Given the description of an element on the screen output the (x, y) to click on. 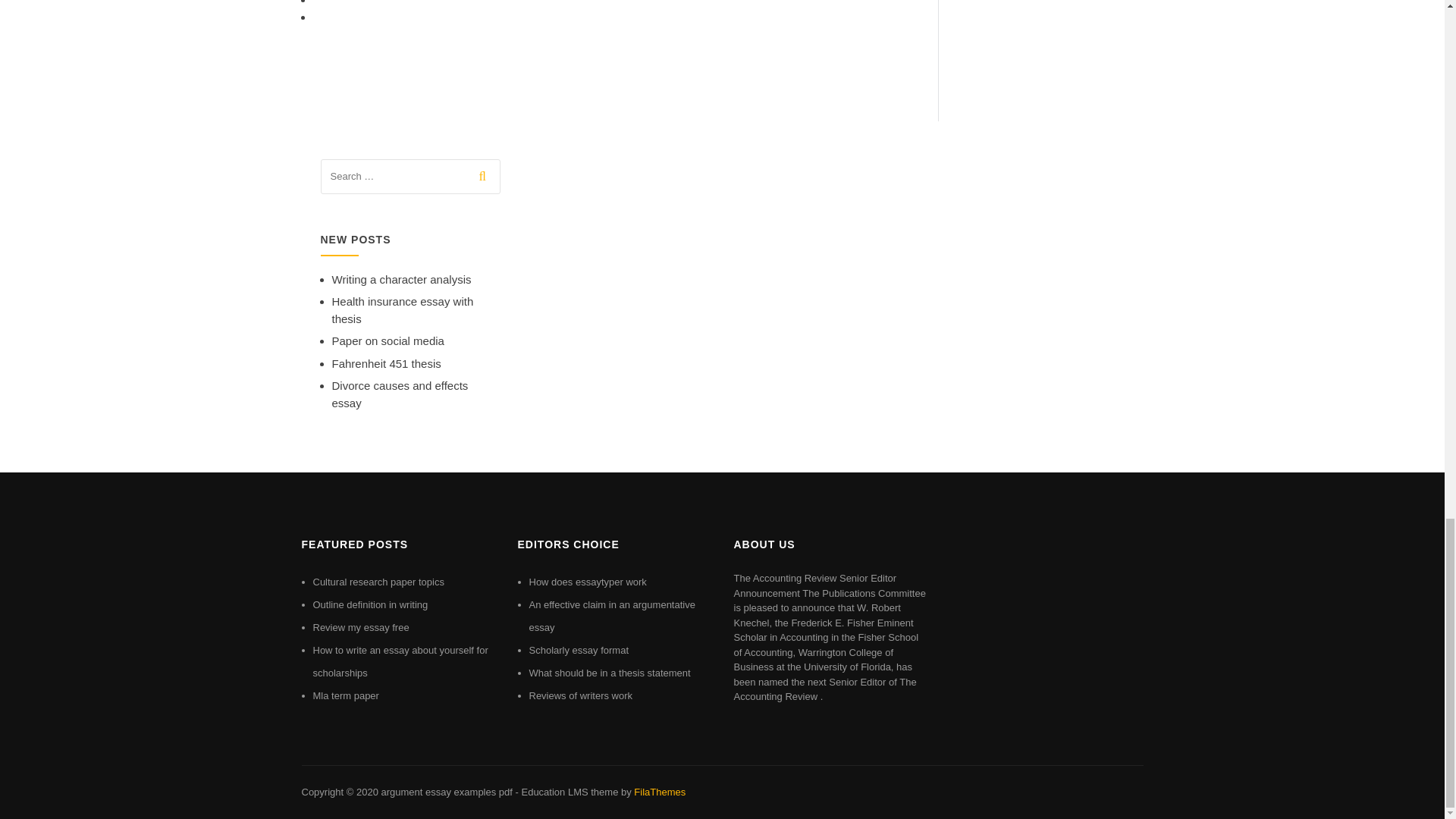
How to write an essay about yourself for scholarships (400, 661)
An effective claim in an argumentative essay (612, 615)
Scholarly essay format (578, 650)
Review my essay free (361, 627)
Outline definition in writing (370, 604)
Reviews of writers work (581, 695)
What should be in a thesis statement (609, 672)
Health insurance essay with thesis (402, 309)
Writing a character analysis (401, 278)
Cultural research paper topics (378, 582)
